Given the description of an element on the screen output the (x, y) to click on. 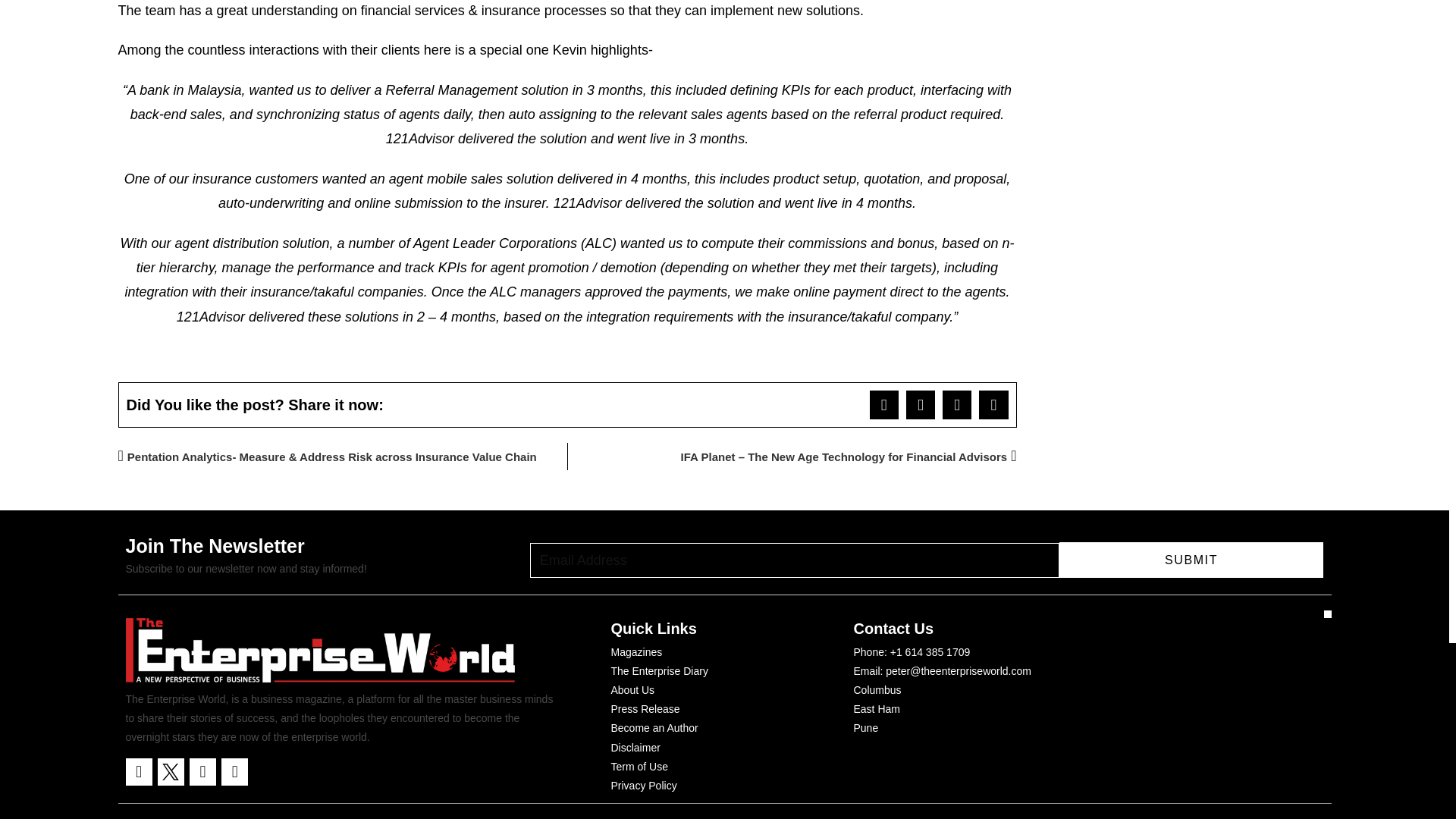
Press Release (645, 709)
About Us (633, 690)
Magazines (636, 651)
SUBMIT (1191, 560)
Privacy Policy (644, 785)
Term of Use (639, 766)
Disclaimer (636, 747)
The Enterprise Diary (659, 670)
Become an Author (654, 728)
Columbus (877, 690)
